Given the description of an element on the screen output the (x, y) to click on. 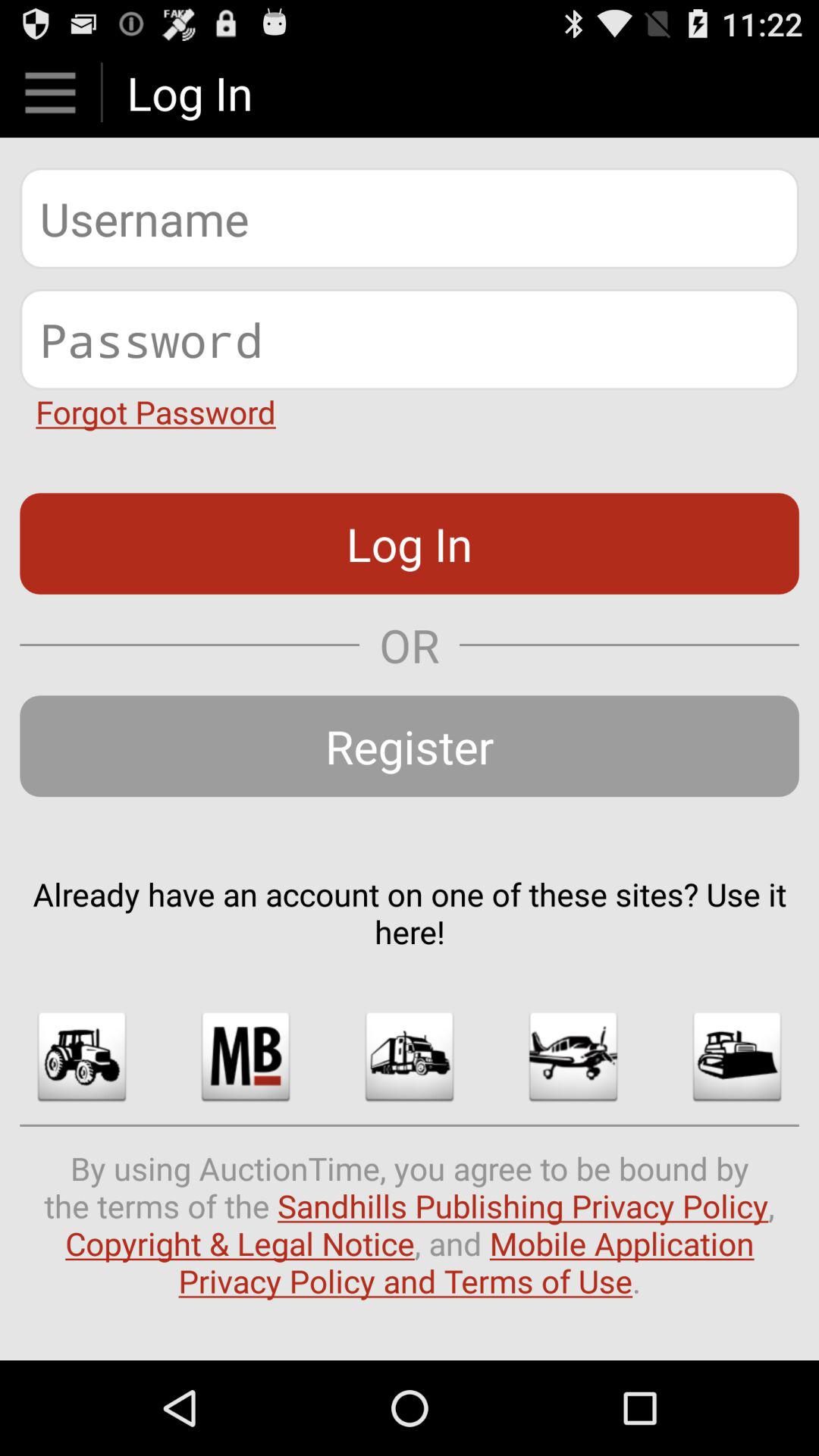
press item below the already have an icon (81, 1056)
